Given the description of an element on the screen output the (x, y) to click on. 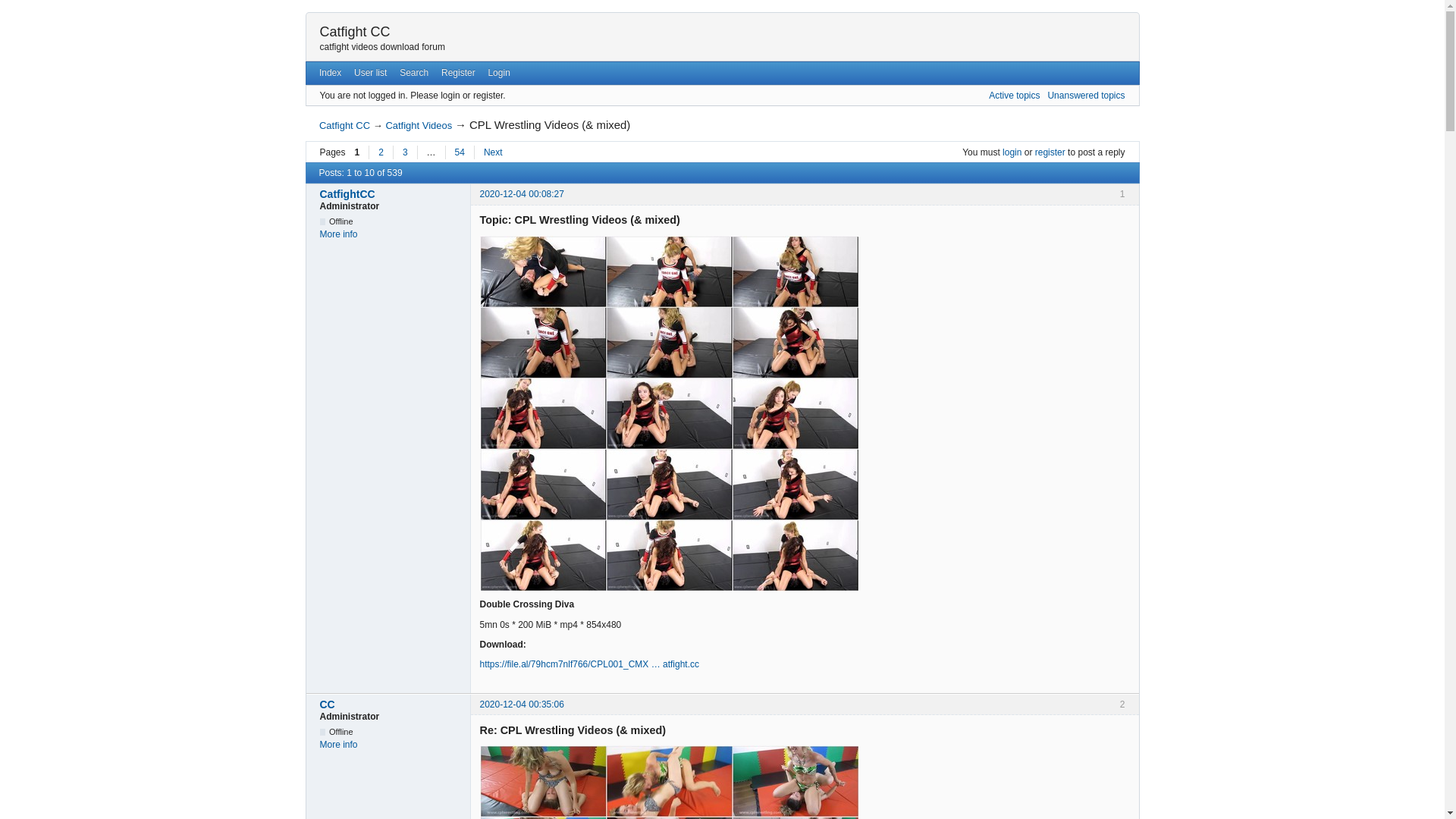
Register Element type: text (458, 72)
2 Element type: text (380, 152)
CC Element type: text (390, 704)
Unanswered topics Element type: text (1085, 95)
2020-12-04 00:35:06 Element type: text (521, 704)
login Element type: text (1011, 152)
More info Element type: text (338, 744)
Search Element type: text (414, 72)
54 Element type: text (459, 152)
User list Element type: text (370, 72)
Catfight Videos Element type: text (418, 125)
register Element type: text (1050, 152)
Login Element type: text (498, 72)
CatfightCC Element type: text (390, 193)
2020-12-04 00:08:27 Element type: text (521, 193)
Active topics Element type: text (1013, 95)
Catfight CC Element type: text (355, 31)
More info Element type: text (338, 234)
Catfight CC Element type: text (344, 125)
Next Element type: text (492, 152)
3 Element type: text (404, 152)
Index Element type: text (329, 72)
